Given the description of an element on the screen output the (x, y) to click on. 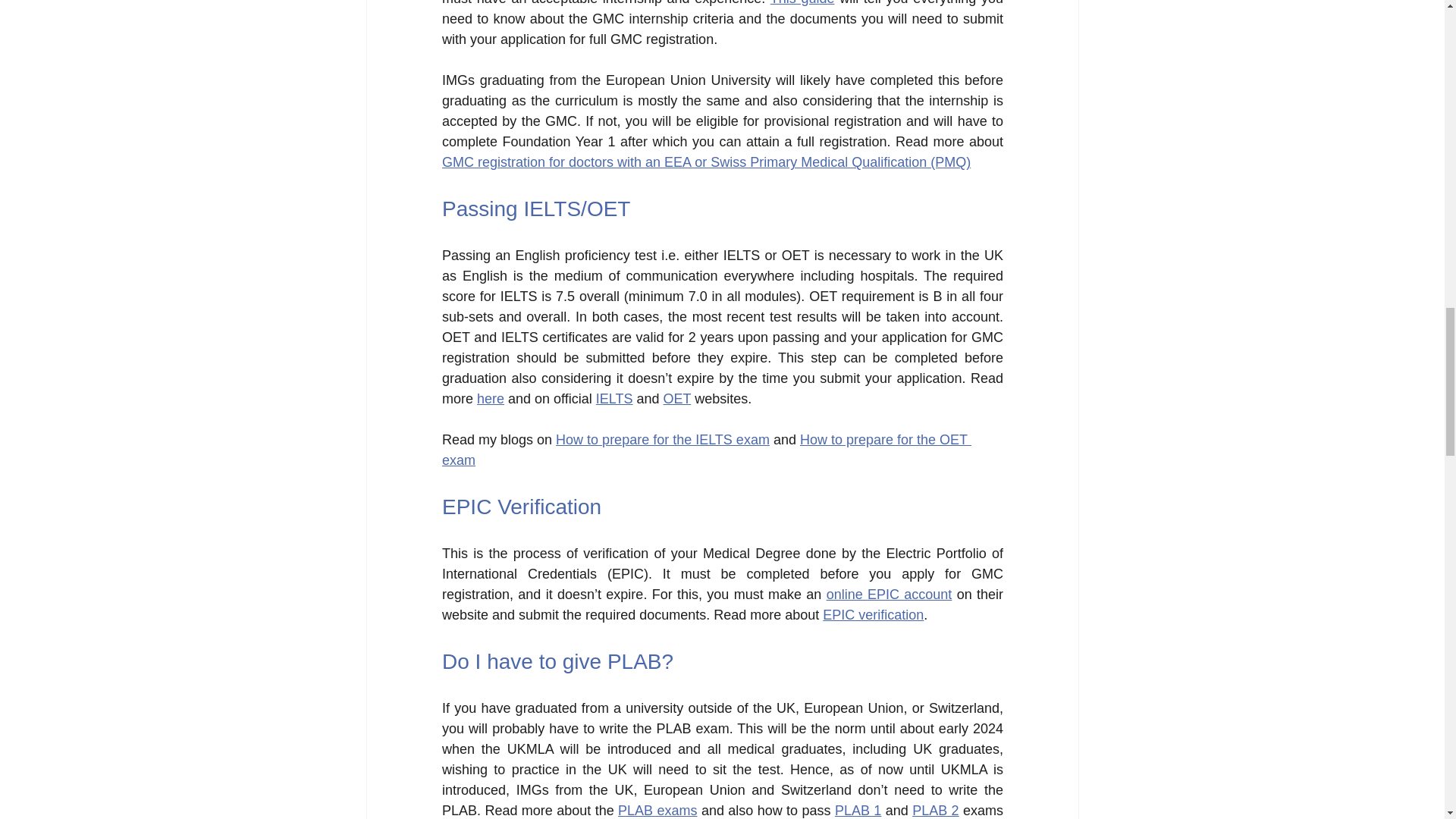
IELTS (613, 398)
OET (676, 398)
here (490, 398)
This guide (802, 2)
